Given the description of an element on the screen output the (x, y) to click on. 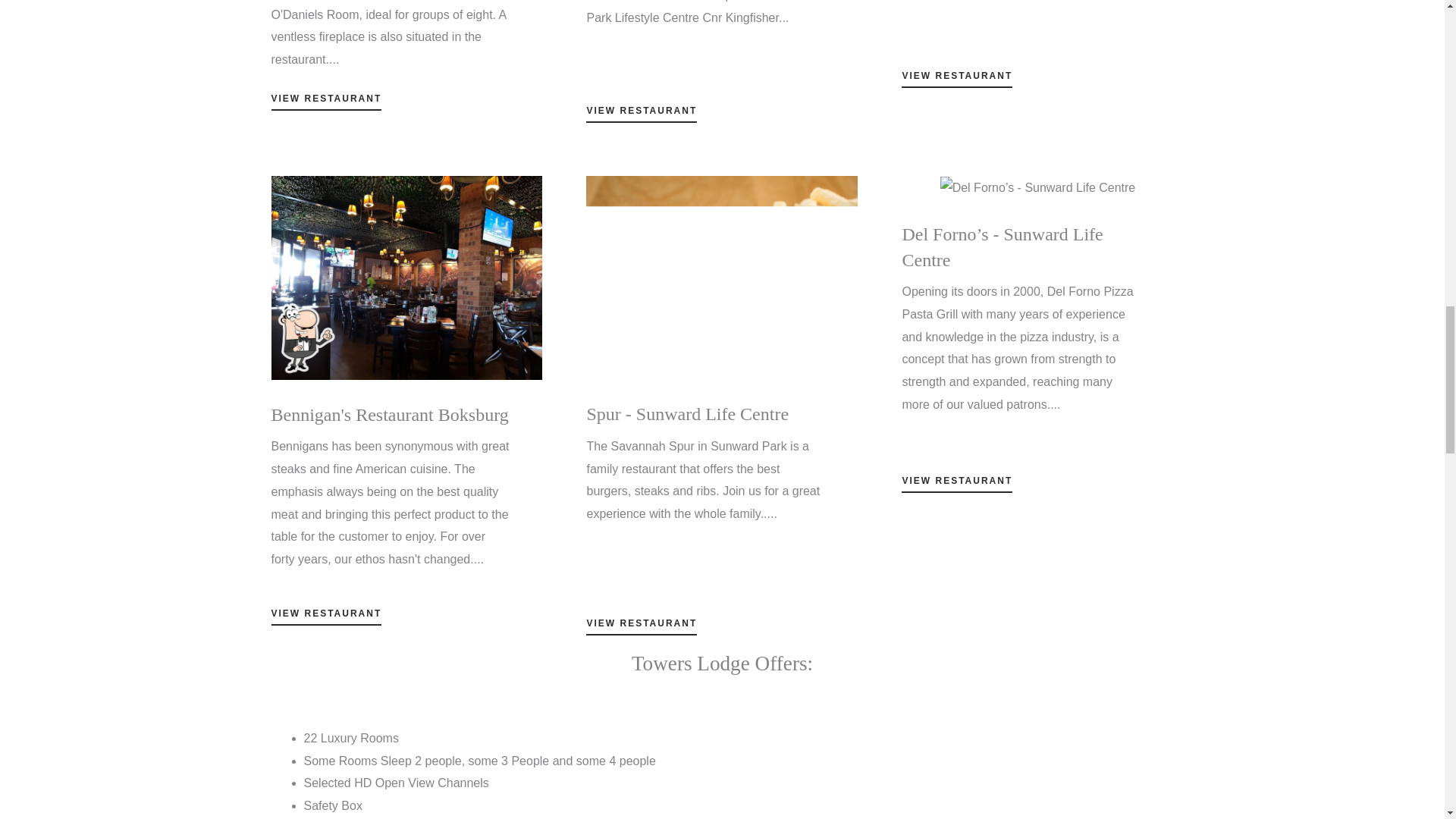
VIEW RESTAURANT (641, 114)
VIEW RESTAURANT (641, 627)
VIEW RESTAURANT (325, 617)
VIEW RESTAURANT (956, 484)
VIEW RESTAURANT (325, 102)
VIEW RESTAURANT (956, 79)
